Given the description of an element on the screen output the (x, y) to click on. 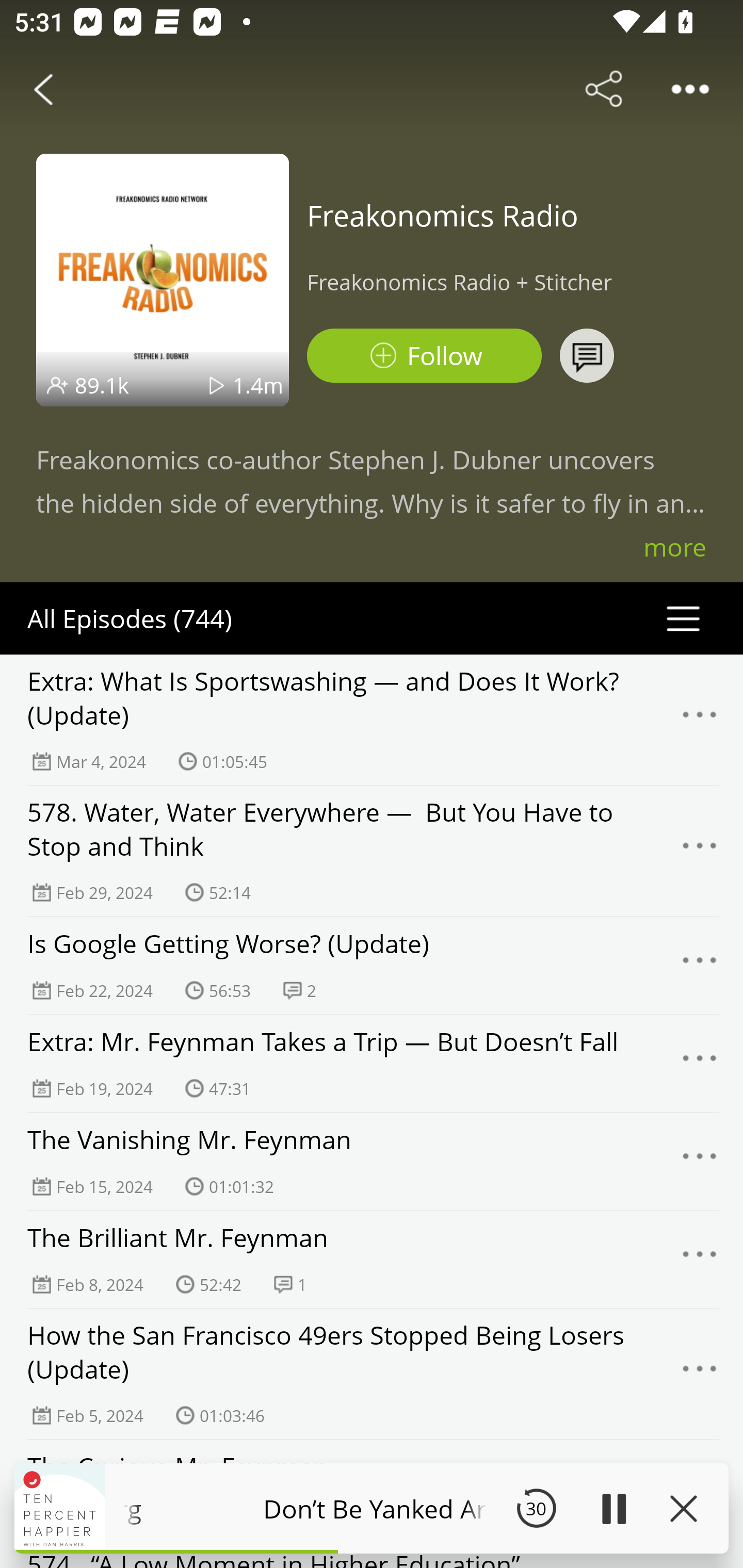
Back (43, 88)
Podbean Follow (423, 355)
89.1k (102, 384)
more (674, 546)
Menu (699, 720)
Menu (699, 850)
Menu (699, 964)
Menu (699, 1063)
Menu (699, 1160)
The Brilliant Mr. Feynman Feb 8, 2024 52:42 1 Menu (371, 1259)
Menu (699, 1259)
Menu (699, 1374)
Play (613, 1507)
30 Seek Backward (536, 1508)
